Given the description of an element on the screen output the (x, y) to click on. 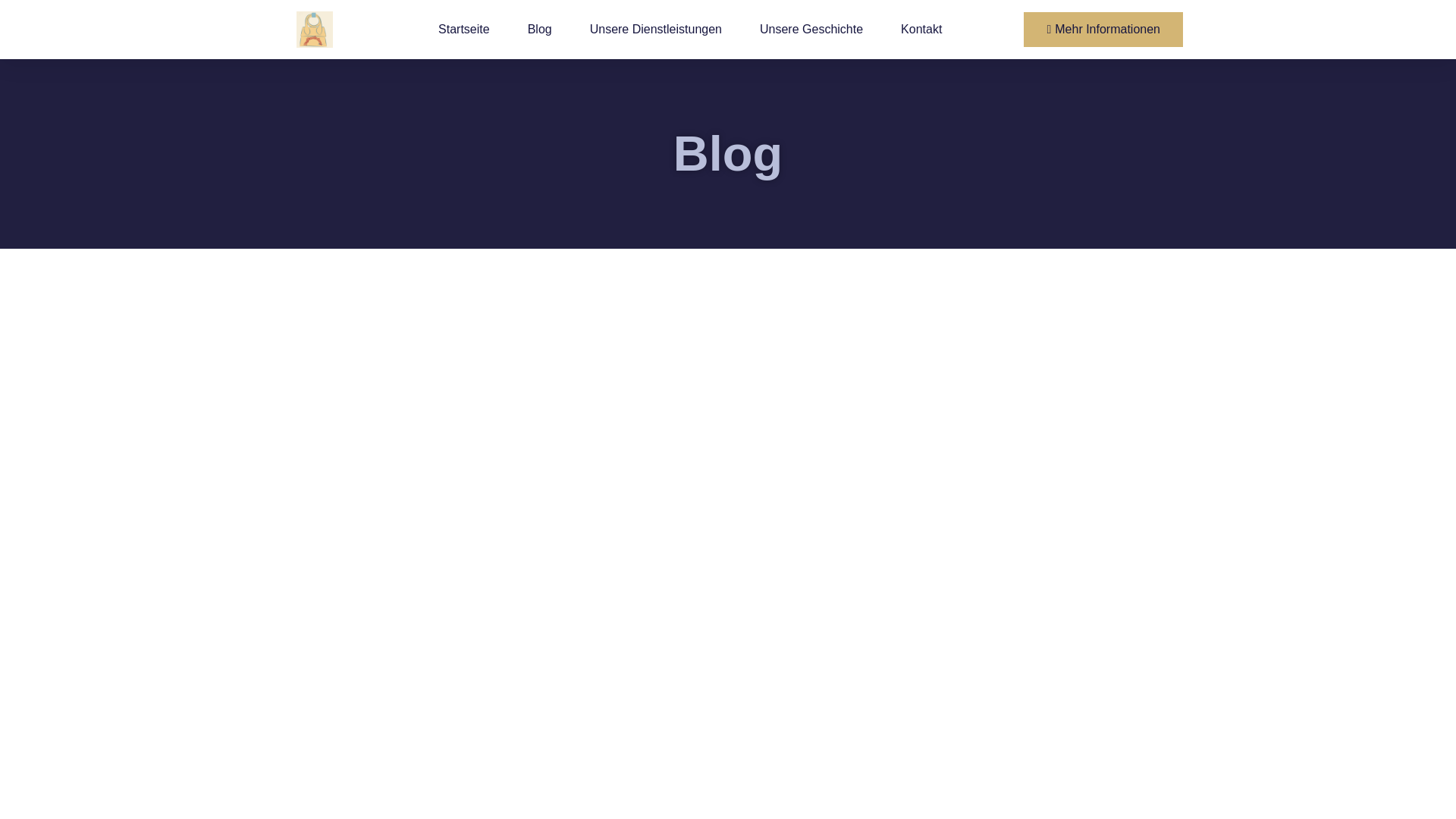
Mehr Informationen (1102, 29)
Unsere Geschichte (811, 28)
Unsere Dienstleistungen (655, 28)
Kontakt (921, 28)
Startseite (463, 28)
